Given the description of an element on the screen output the (x, y) to click on. 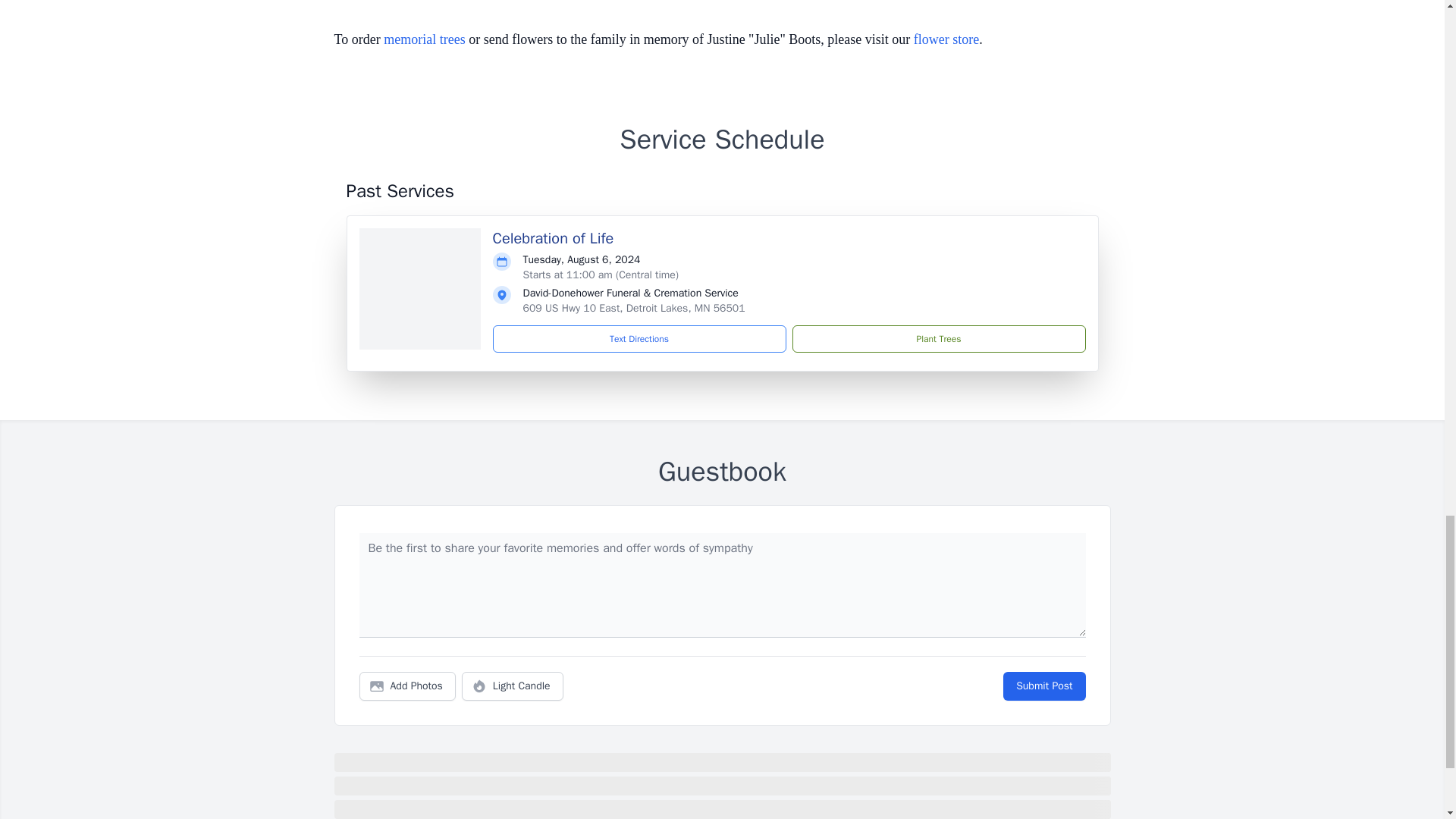
Text Directions (639, 338)
Add Photos (407, 686)
609 US Hwy 10 East, Detroit Lakes, MN 56501 (633, 308)
memorial trees (424, 38)
Light Candle (512, 686)
flower store (946, 38)
Submit Post (1043, 686)
Plant Trees (938, 338)
